Given the description of an element on the screen output the (x, y) to click on. 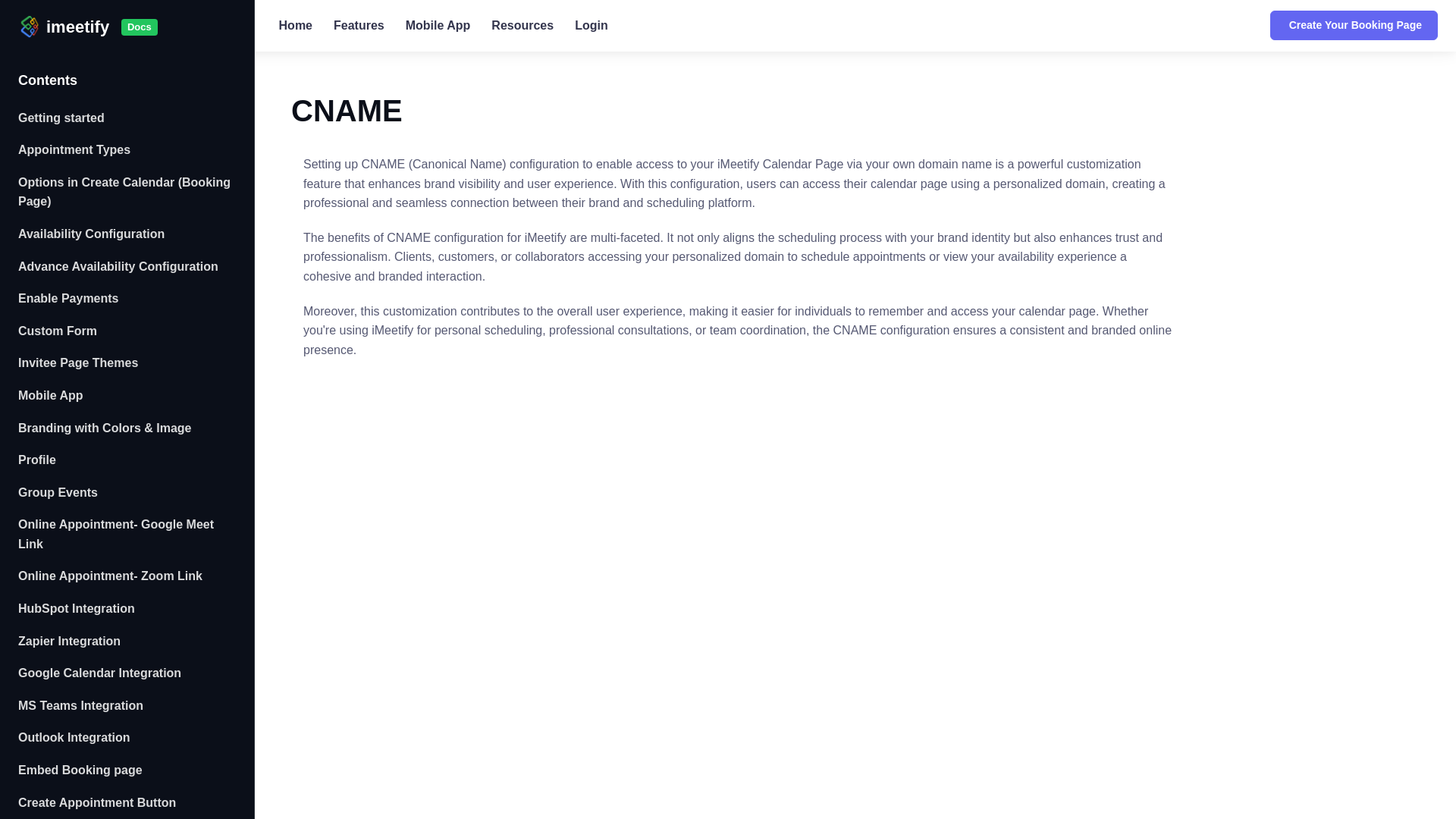
Profile (126, 459)
Online Appointment- Zoom Link (126, 576)
Appointment Types (126, 150)
Mobile App (437, 25)
Custom Form (126, 331)
Resources (522, 25)
HubSpot Integration (126, 608)
Online Appointment- Google Meet Link (126, 533)
Invitee Page Themes (126, 363)
imeetify (54, 25)
